Given the description of an element on the screen output the (x, y) to click on. 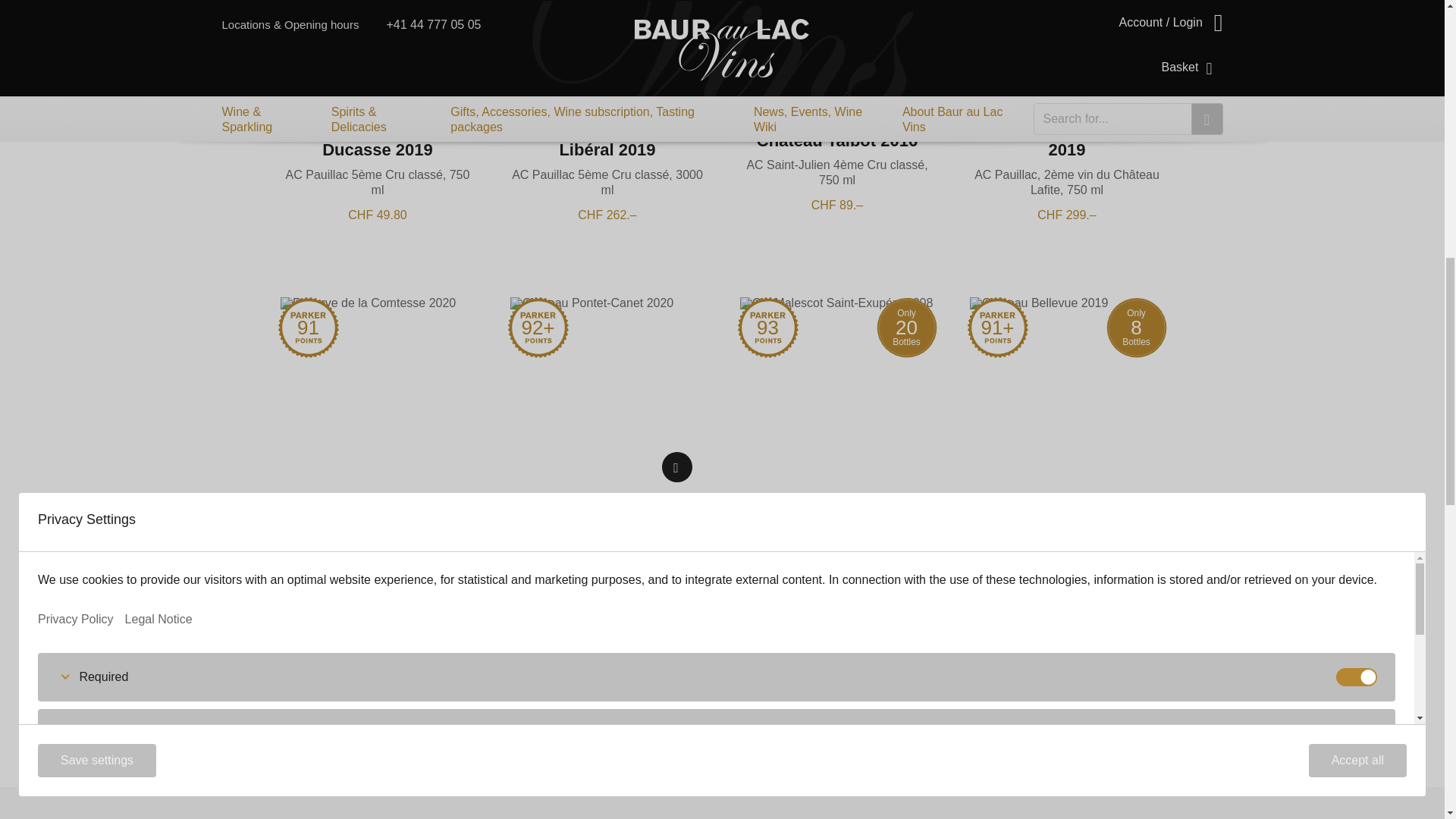
Certified organic or biodynamic wine (676, 33)
